Given the description of an element on the screen output the (x, y) to click on. 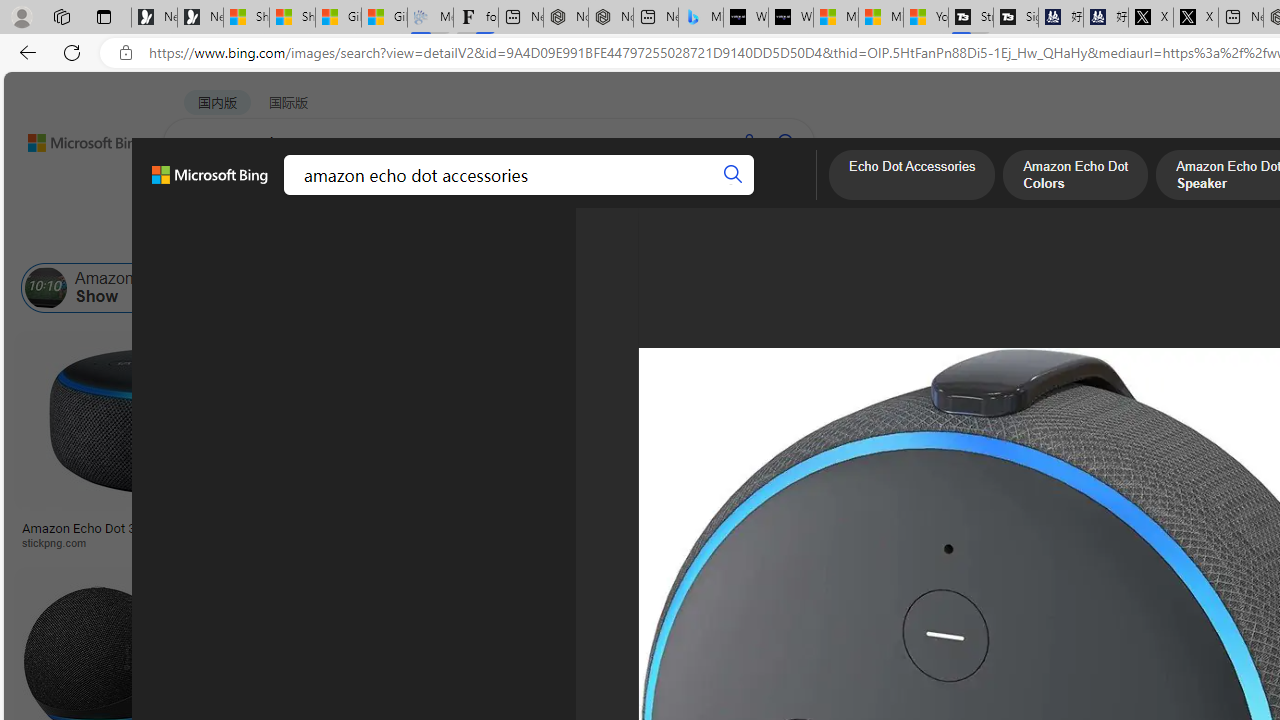
Amazon Echo 2nd Generation (1070, 287)
People (520, 237)
stickpng.com (1190, 542)
With Clock (995, 460)
Amazon Echo Dot with Clock (786, 287)
Smart Speaker Alexa (995, 521)
